Given the description of an element on the screen output the (x, y) to click on. 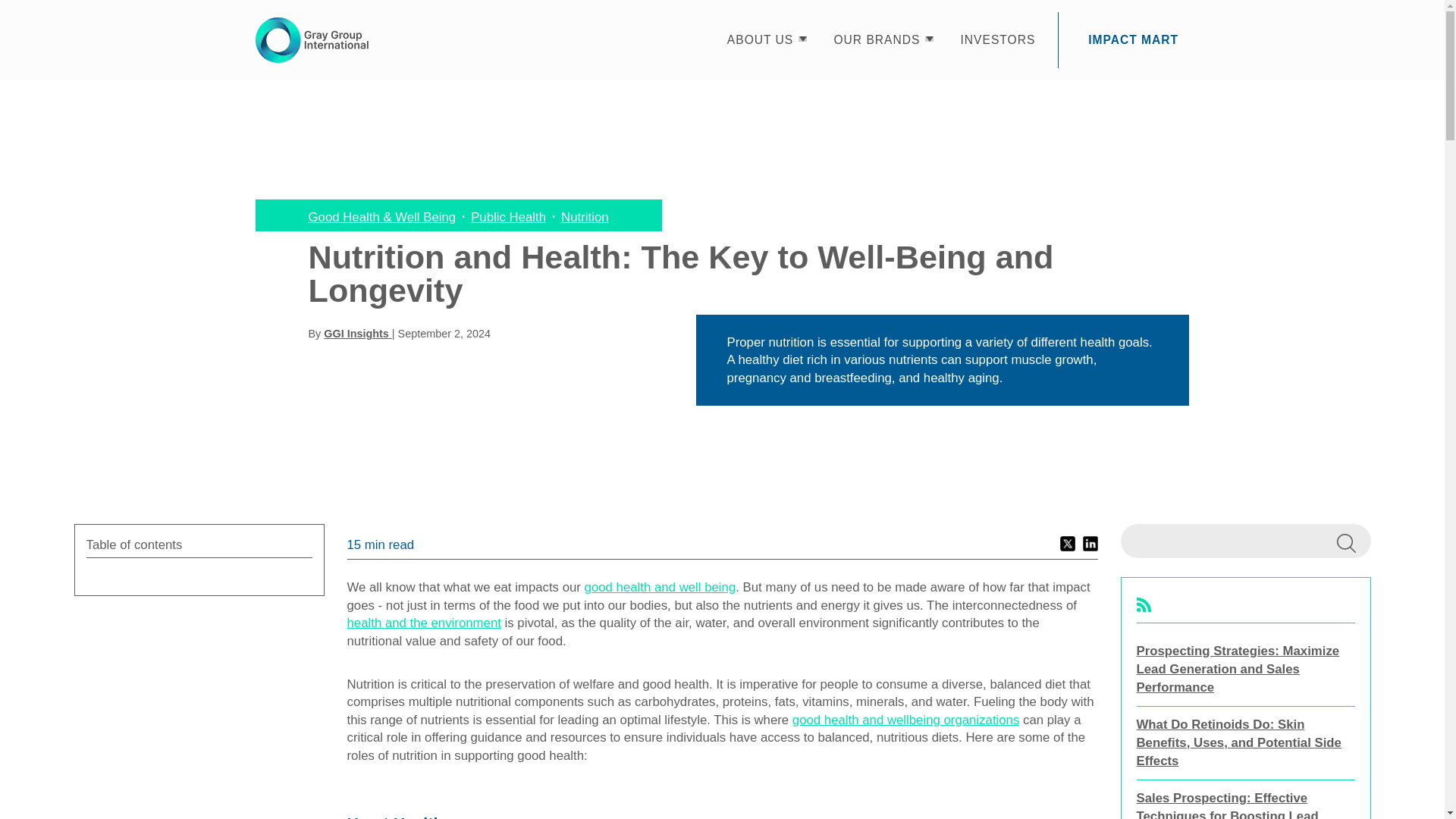
OUR BRANDS (876, 39)
Show submenu for OUR BRANDS (928, 38)
good health and wellbeing organizations (906, 719)
IMPACT MART (1132, 39)
INVESTORS (997, 39)
ABOUT US (759, 39)
Public Health (508, 216)
GGI main logo (311, 40)
Show submenu for ABOUT US (801, 38)
Nutrition (584, 216)
